Given the description of an element on the screen output the (x, y) to click on. 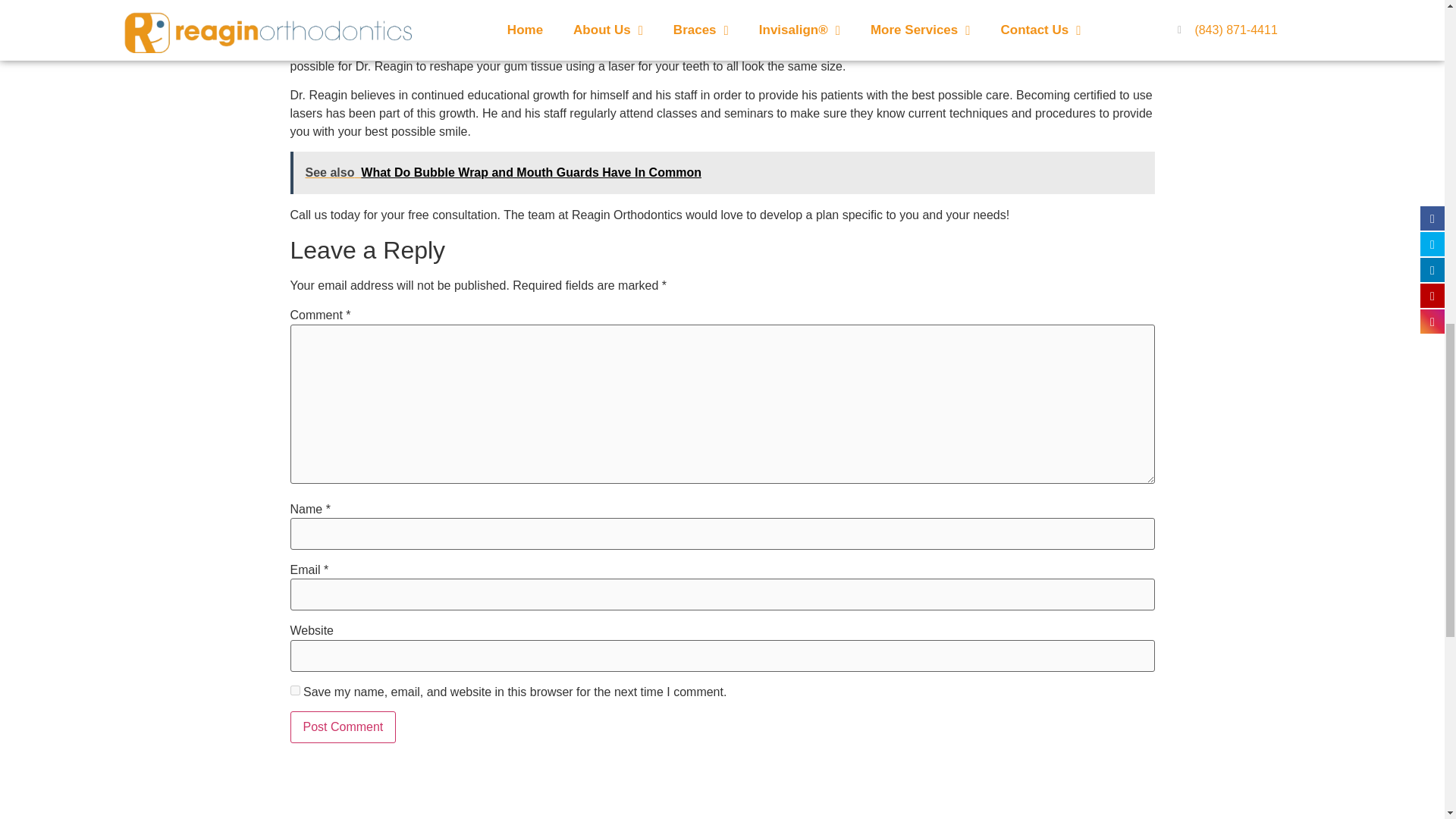
yes (294, 690)
Post Comment (342, 726)
